Given the description of an element on the screen output the (x, y) to click on. 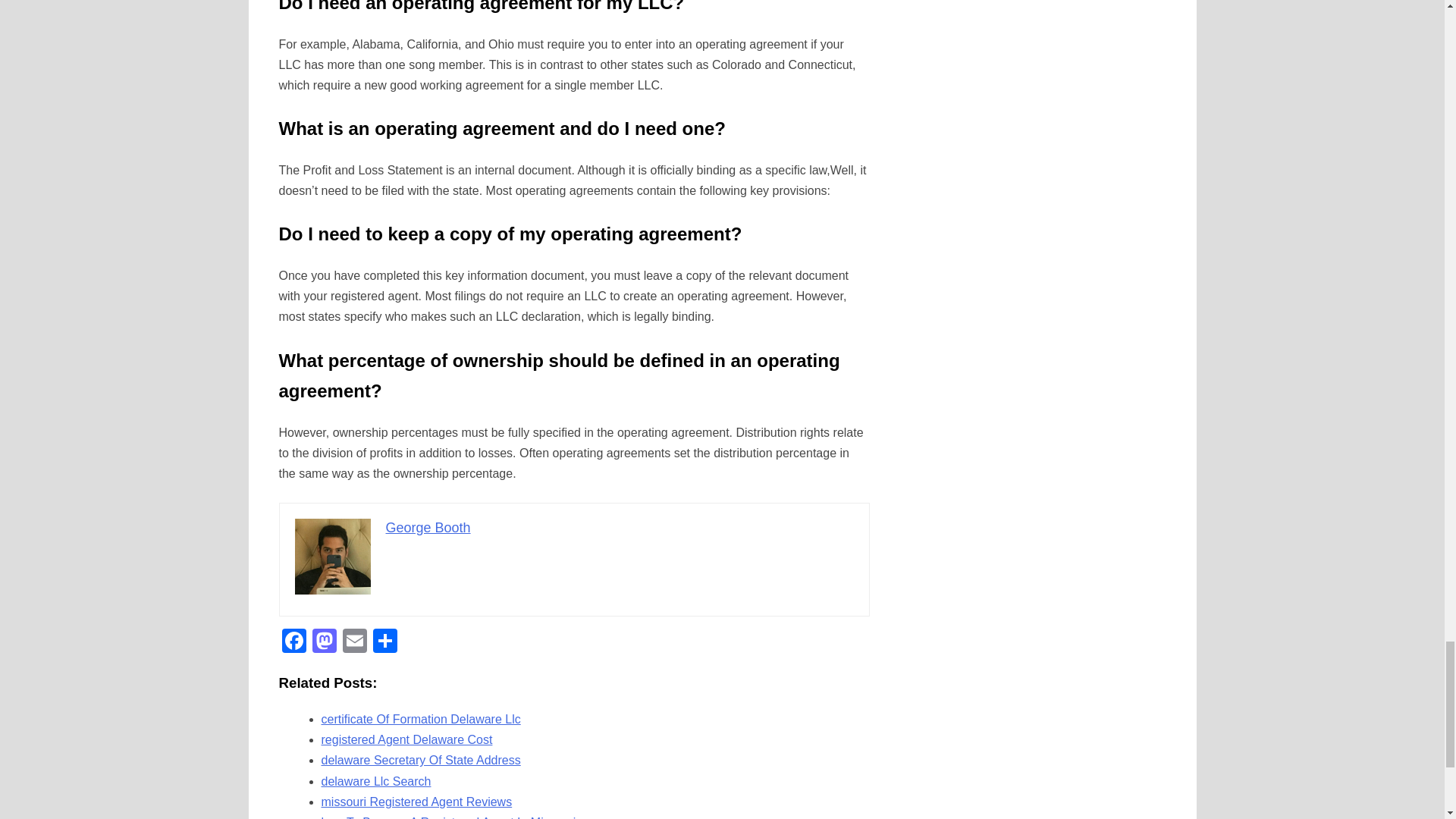
missouri Registered Agent Reviews (416, 801)
Email (354, 642)
certificate Of Formation Delaware Llc (421, 718)
Share (384, 642)
delaware Llc Search (375, 780)
how To Become A Registered Agent In Missouri (448, 817)
delaware Secretary Of State Address (421, 759)
George Booth (427, 527)
registered Agent Delaware Cost (407, 739)
Facebook (293, 642)
Mastodon (323, 642)
